Given the description of an element on the screen output the (x, y) to click on. 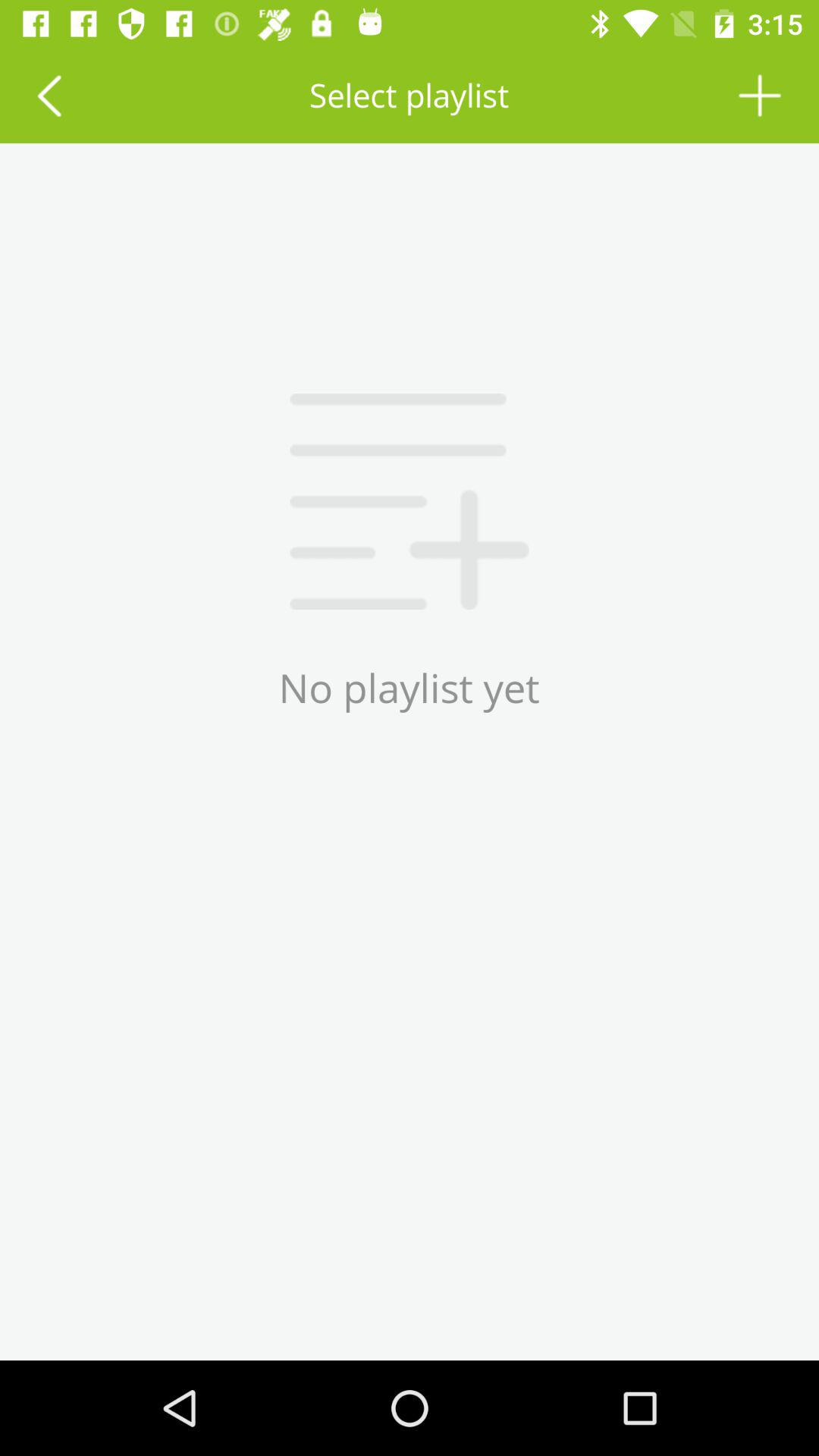
go back (48, 95)
